Given the description of an element on the screen output the (x, y) to click on. 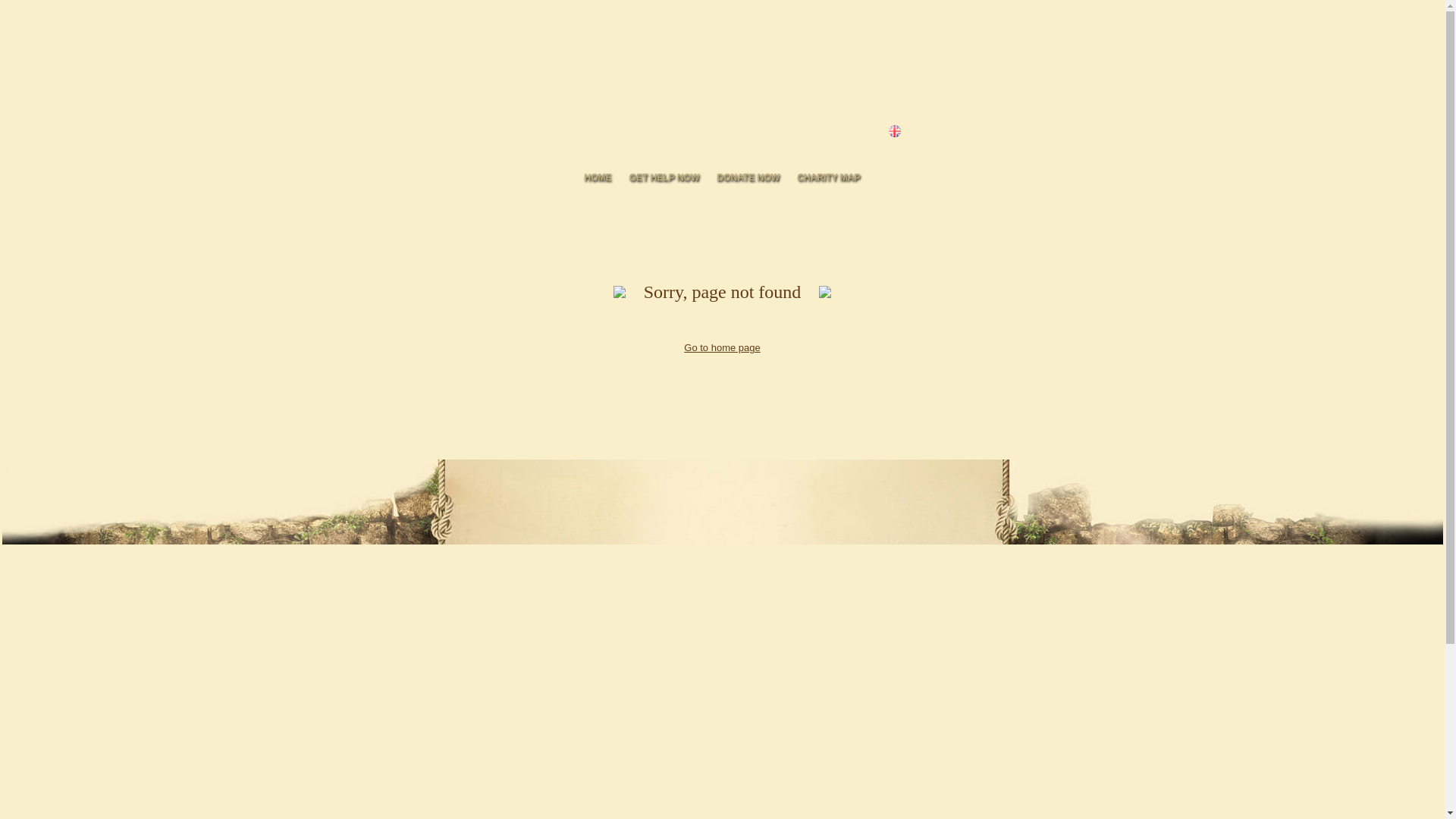
HOME (597, 178)
GET HELP NOW (663, 178)
CHARITY MAP (828, 178)
DONATE NOW (748, 178)
Go to home page (722, 347)
